Given the description of an element on the screen output the (x, y) to click on. 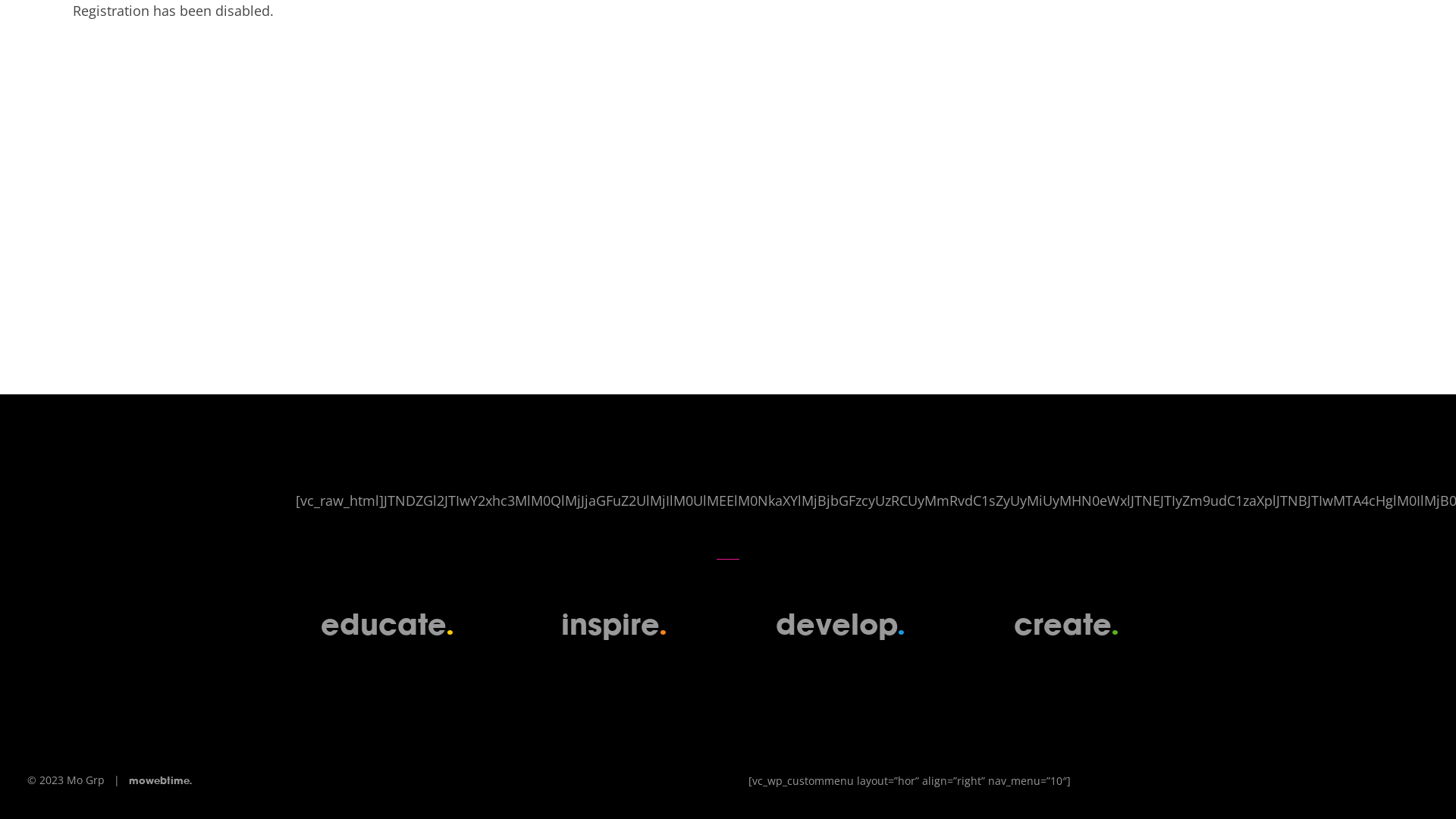
mowebtime. Element type: text (160, 780)
Contact Element type: text (1395, 45)
About Element type: text (1161, 45)
Careers Element type: text (1316, 45)
Projects Element type: text (1236, 45)
